Given the description of an element on the screen output the (x, y) to click on. 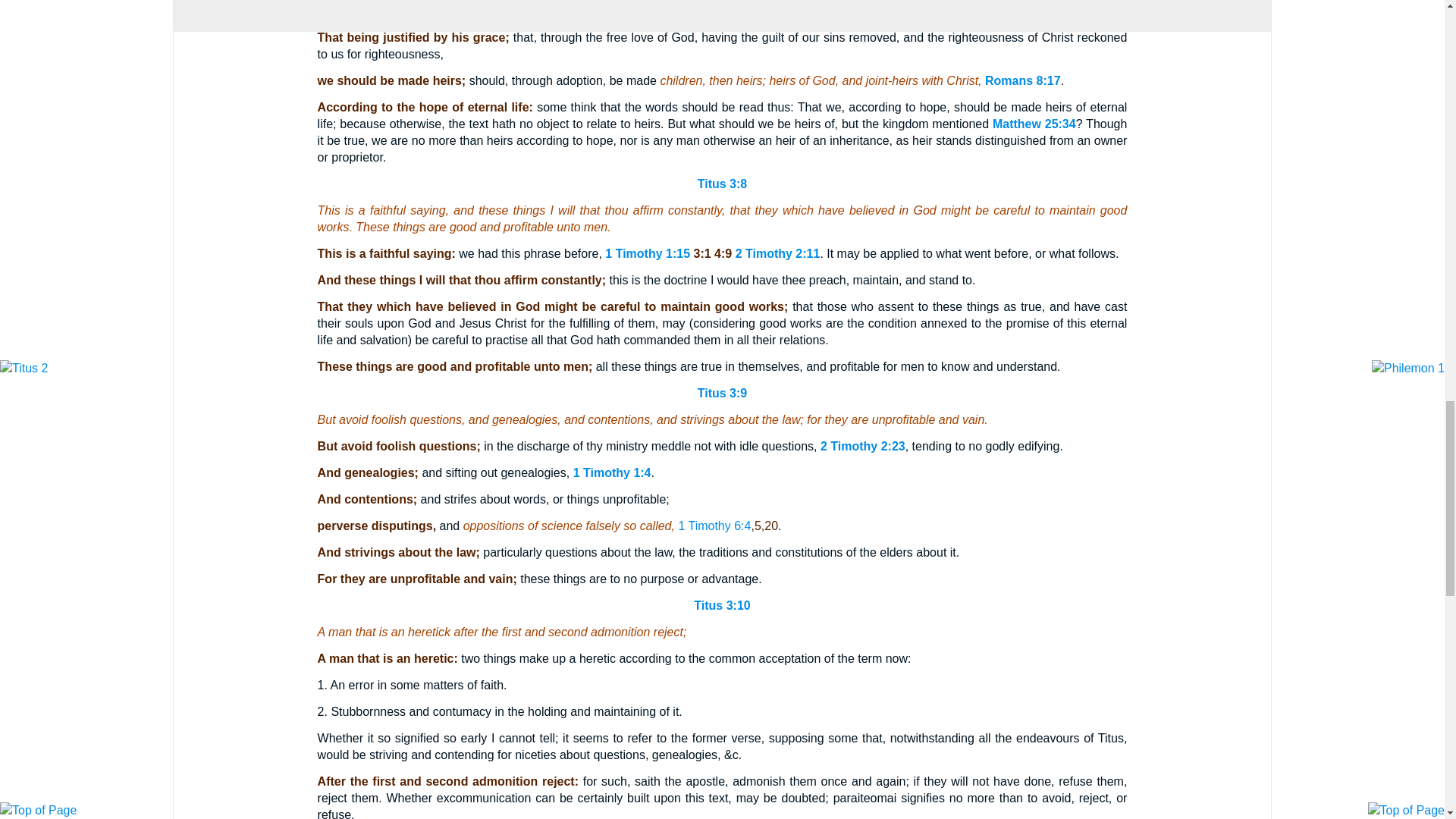
2 Timothy 2:23 (863, 445)
Romans 8:17 (1023, 80)
Titus 3:9 (722, 392)
2 Timothy 2:11 (778, 253)
1 Timothy 1:4 (611, 472)
1 Timothy 1:15 (647, 253)
Matthew 25:34 (1033, 123)
Titus 3:8 (722, 183)
